Given the description of an element on the screen output the (x, y) to click on. 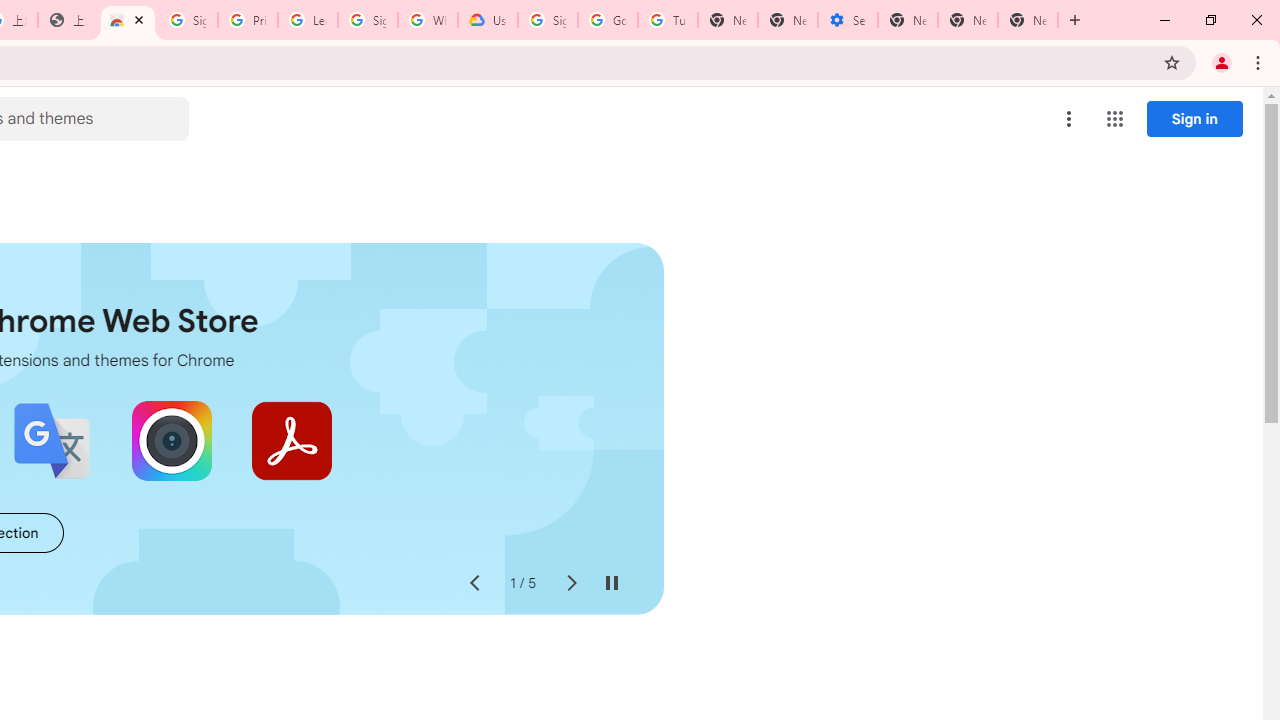
Next slide (570, 583)
Sign in - Google Accounts (367, 20)
Awesome Screen Recorder & Screenshot (171, 440)
Previous slide (474, 583)
New Tab (1028, 20)
Sign in - Google Accounts (548, 20)
New Tab (908, 20)
